Given the description of an element on the screen output the (x, y) to click on. 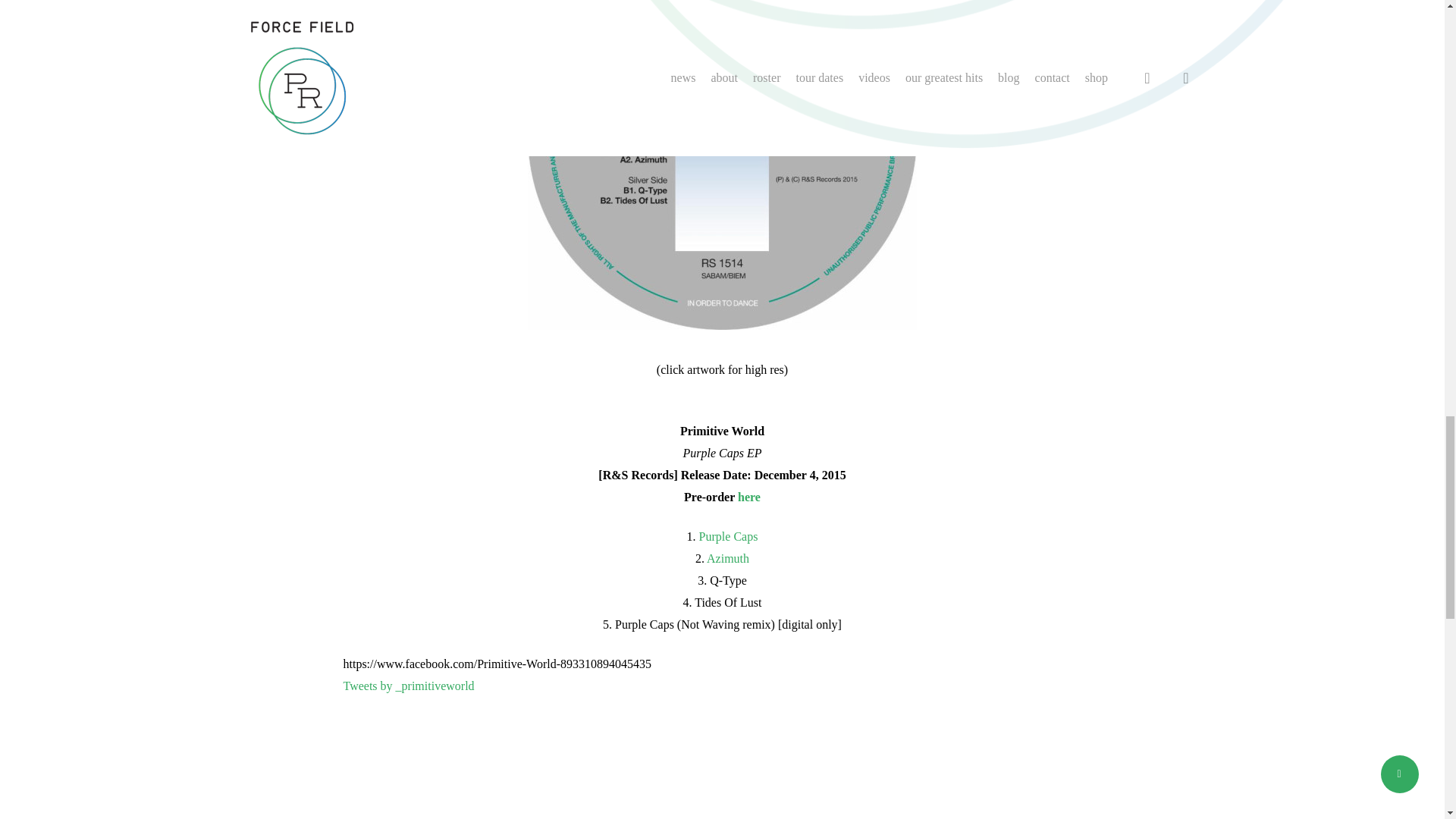
Azimuth (727, 558)
Primitive World (721, 758)
Purple Caps (728, 535)
here (749, 496)
